Given the description of an element on the screen output the (x, y) to click on. 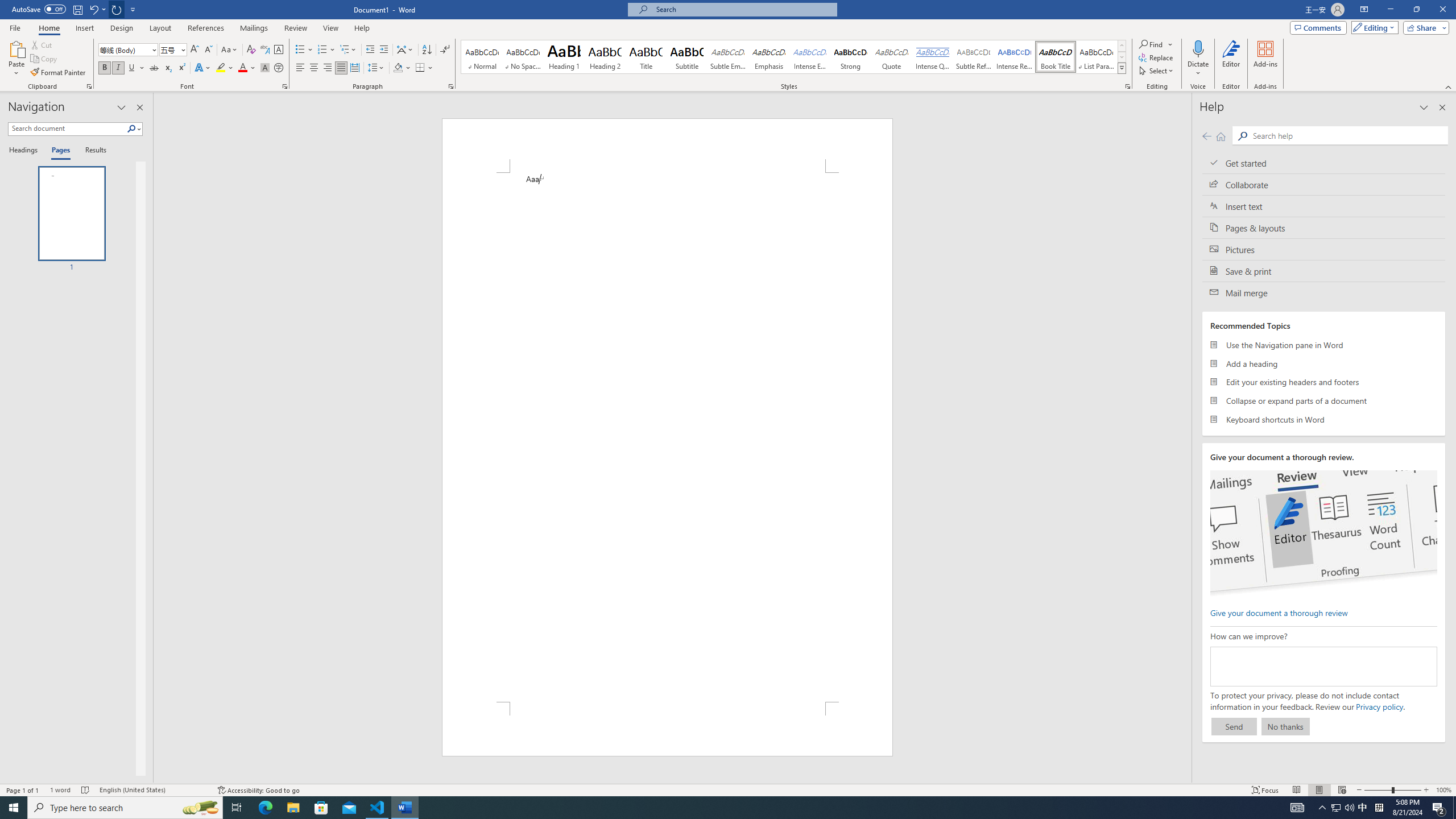
Home (48, 28)
Align Right (327, 67)
Shrink Font (208, 49)
Help (361, 28)
Repeat Style (117, 9)
View (330, 28)
Add a heading (1323, 363)
Grow Font (193, 49)
